Given the description of an element on the screen output the (x, y) to click on. 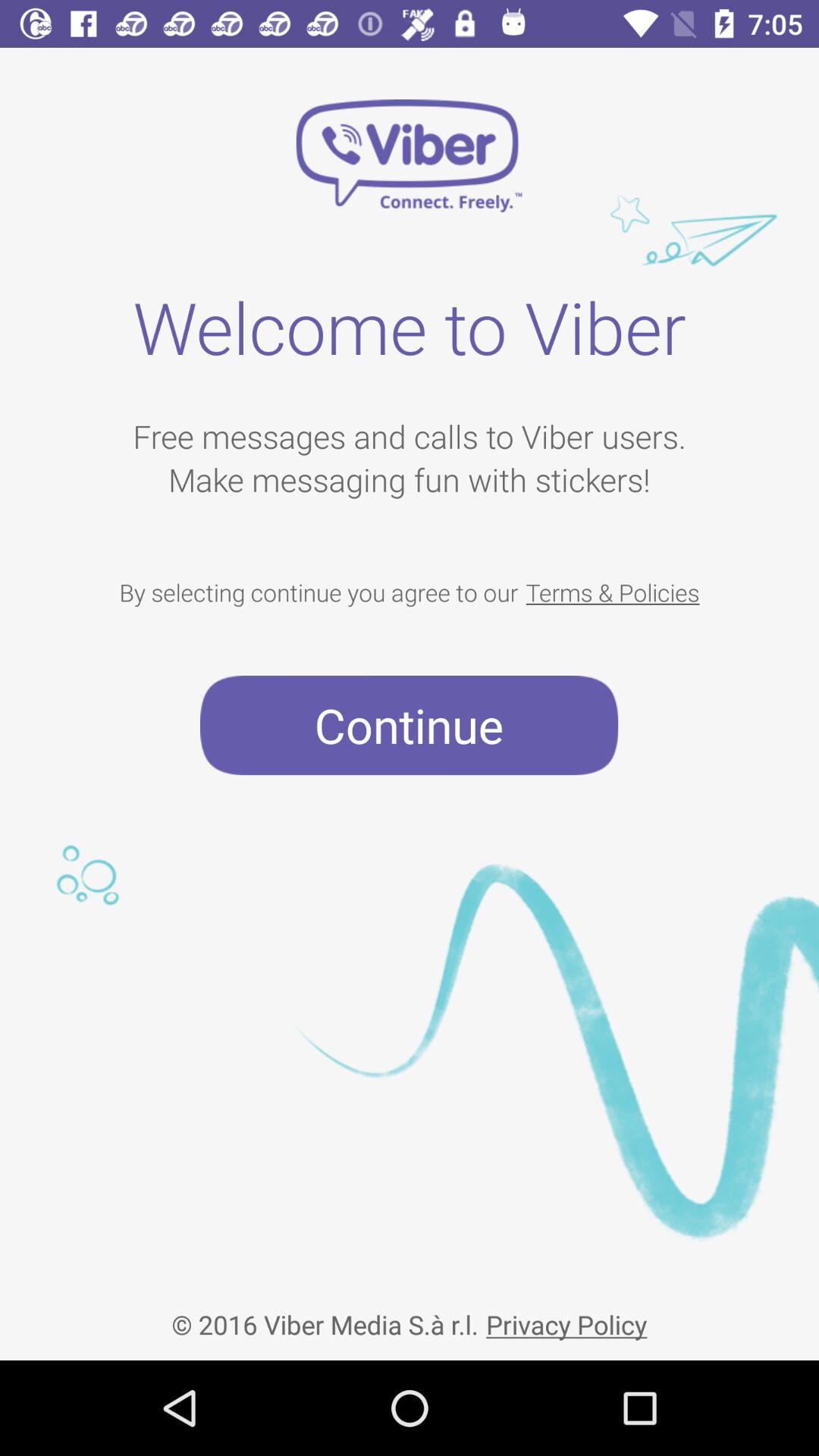
choose terms & policies on the right (612, 592)
